Given the description of an element on the screen output the (x, y) to click on. 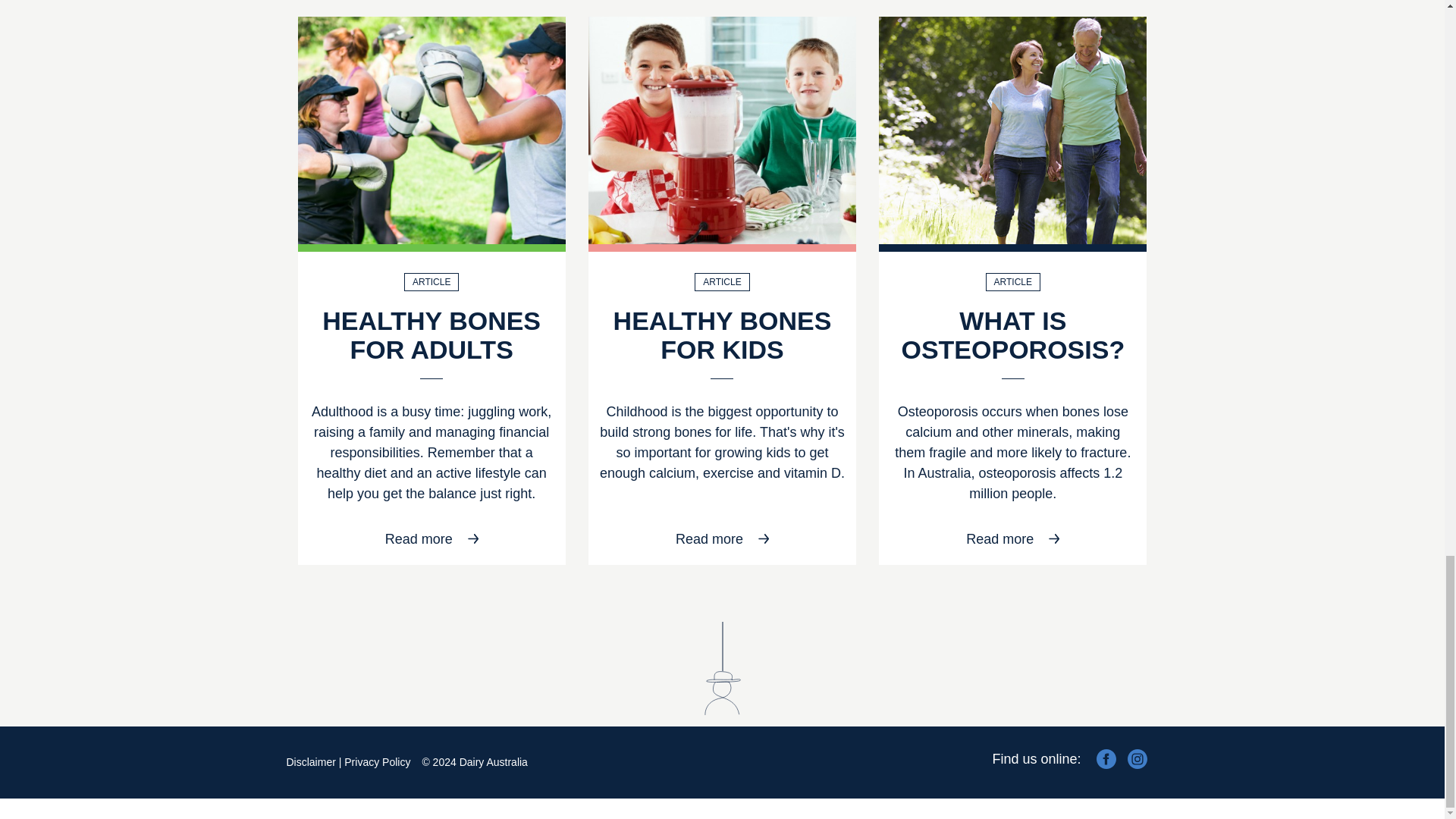
Healthy Bones Action Week for Adults (430, 130)
